Given the description of an element on the screen output the (x, y) to click on. 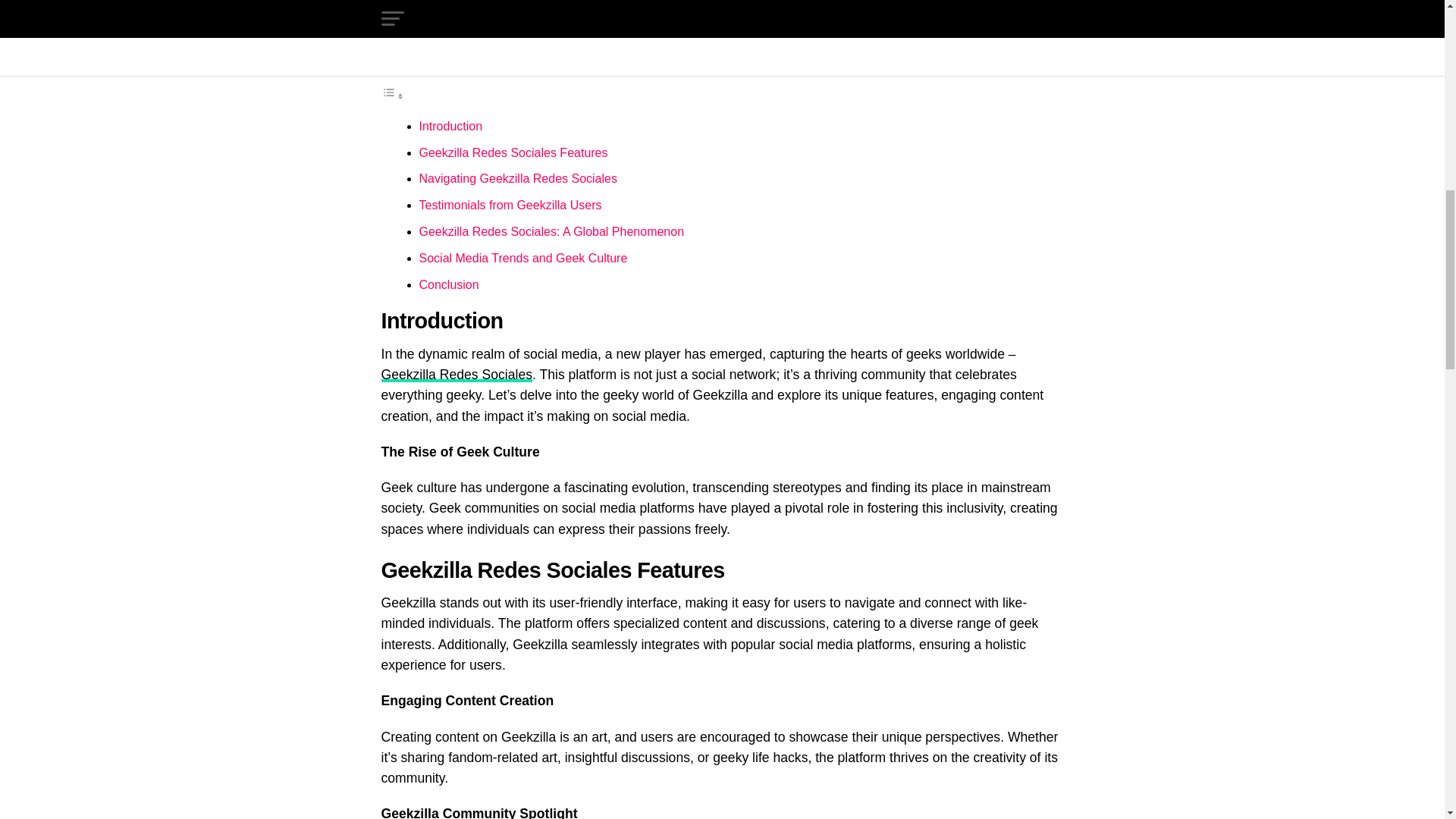
Conclusion (449, 284)
Geekzilla Redes Sociales: A Global Phenomenon (551, 231)
Geekzilla Redes Sociales Features (513, 152)
Conclusion (449, 284)
Geekzilla Redes Sociales (456, 374)
Geekzilla Redes Sociales Features (513, 152)
Introduction (450, 125)
Geekzilla Redes Sociales: A Global Phenomenon (551, 231)
 Introduction (450, 125)
Social Media Trends and Geek Culture (523, 257)
Navigating Geekzilla Redes Sociales (517, 178)
Navigating Geekzilla Redes Sociales (517, 178)
Testimonials from Geekzilla Users (510, 205)
 Social Media Trends and Geek Culture (523, 257)
Testimonials from Geekzilla Users (510, 205)
